Given the description of an element on the screen output the (x, y) to click on. 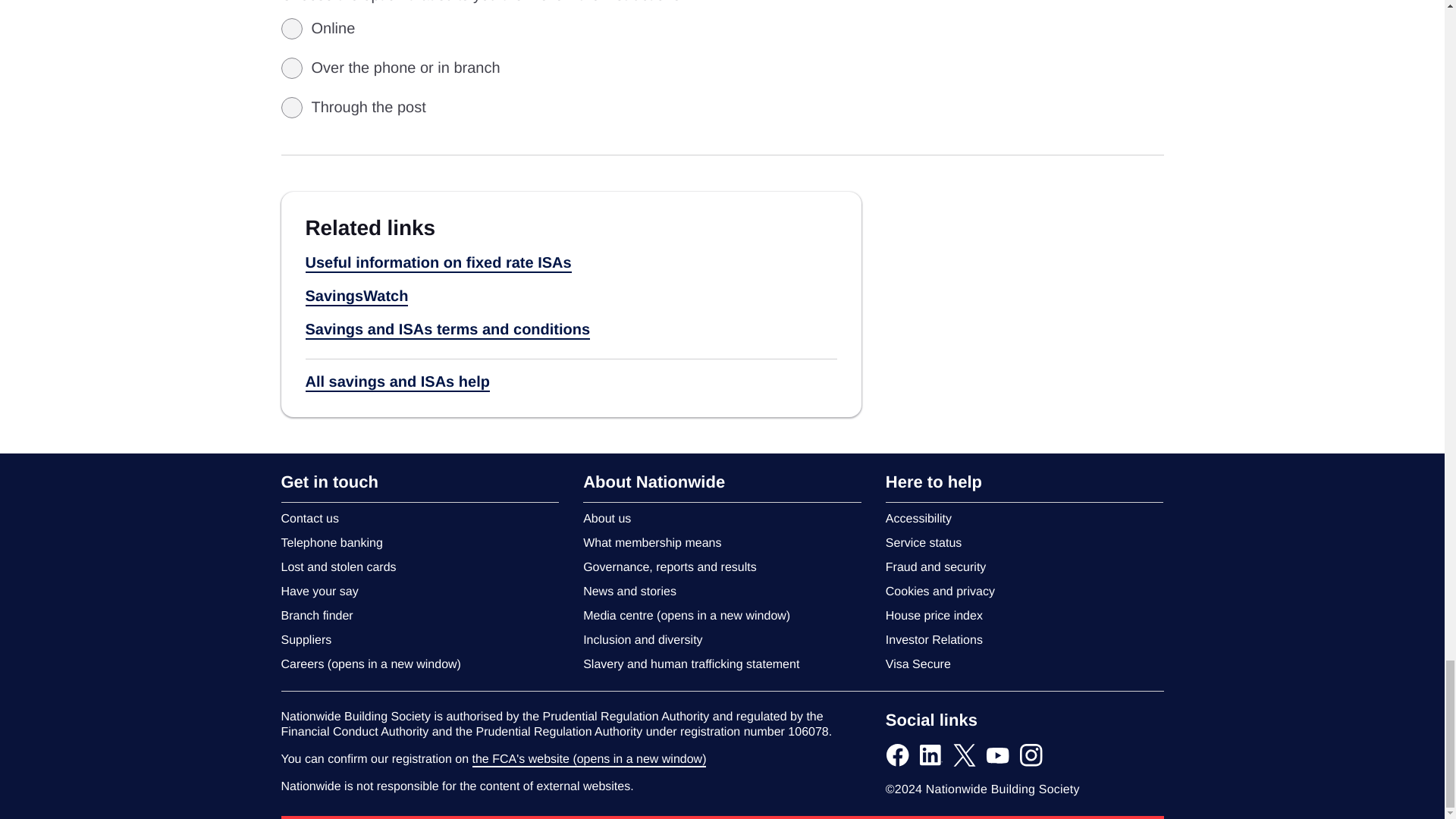
Contact us (309, 518)
Telephone banking (331, 543)
Savings and ISAs terms and conditions (446, 330)
SavingsWatch (355, 297)
Useful information on fixed rate ISAs (437, 263)
All savings and ISAs help (396, 382)
